Given the description of an element on the screen output the (x, y) to click on. 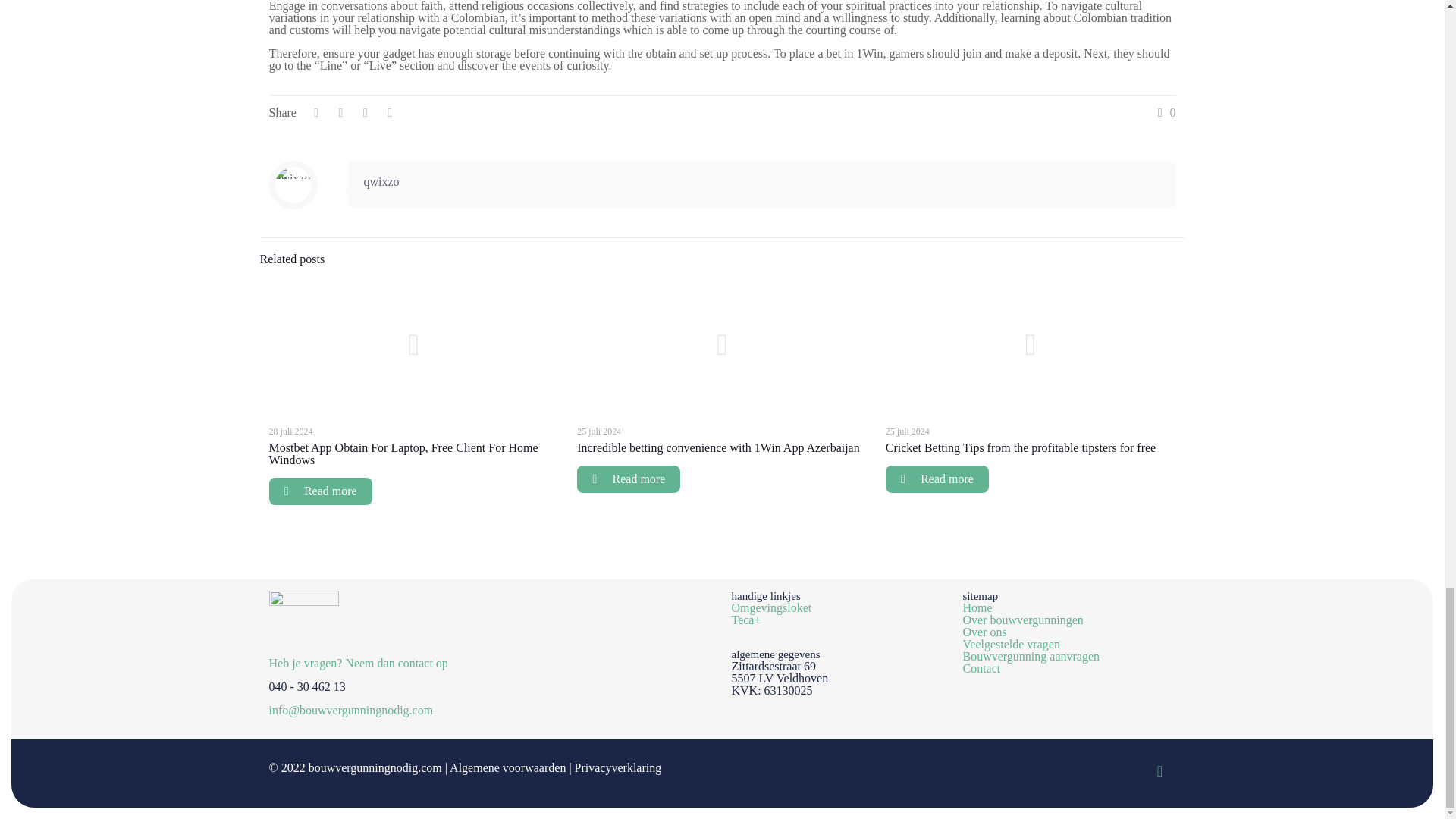
Cricket Betting Tips from the profitable tipsters for free (1020, 447)
Over ons (984, 631)
Read more (319, 491)
Read more (627, 479)
Over bouwvergunningen (1022, 619)
Read more (936, 479)
qwixzo (381, 181)
0 (1162, 112)
Incredible betting convenience with 1Win App Azerbaijan (718, 447)
Mostbet App Obtain For Laptop, Free Client For Home Windows (402, 453)
Omgevingsloket (770, 607)
Home (977, 607)
